Given the description of an element on the screen output the (x, y) to click on. 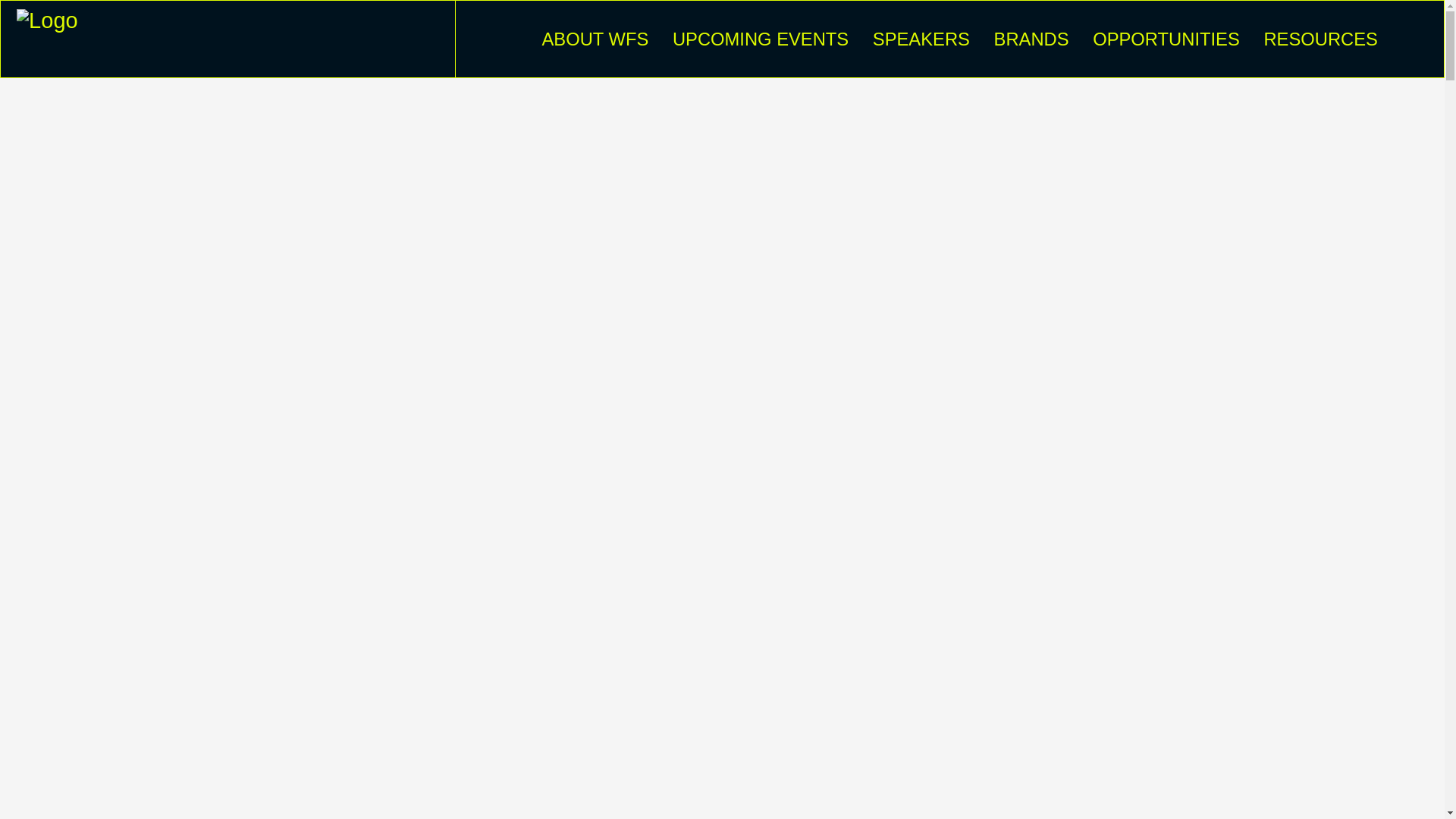
OPPORTUNITIES (1166, 38)
ABOUT WFS (594, 38)
link (1373, 703)
UPCOMING EVENTS (760, 38)
BRANDS (1031, 38)
Back (88, 135)
SPEAKERS (920, 38)
RESOURCES (1320, 38)
